Given the description of an element on the screen output the (x, y) to click on. 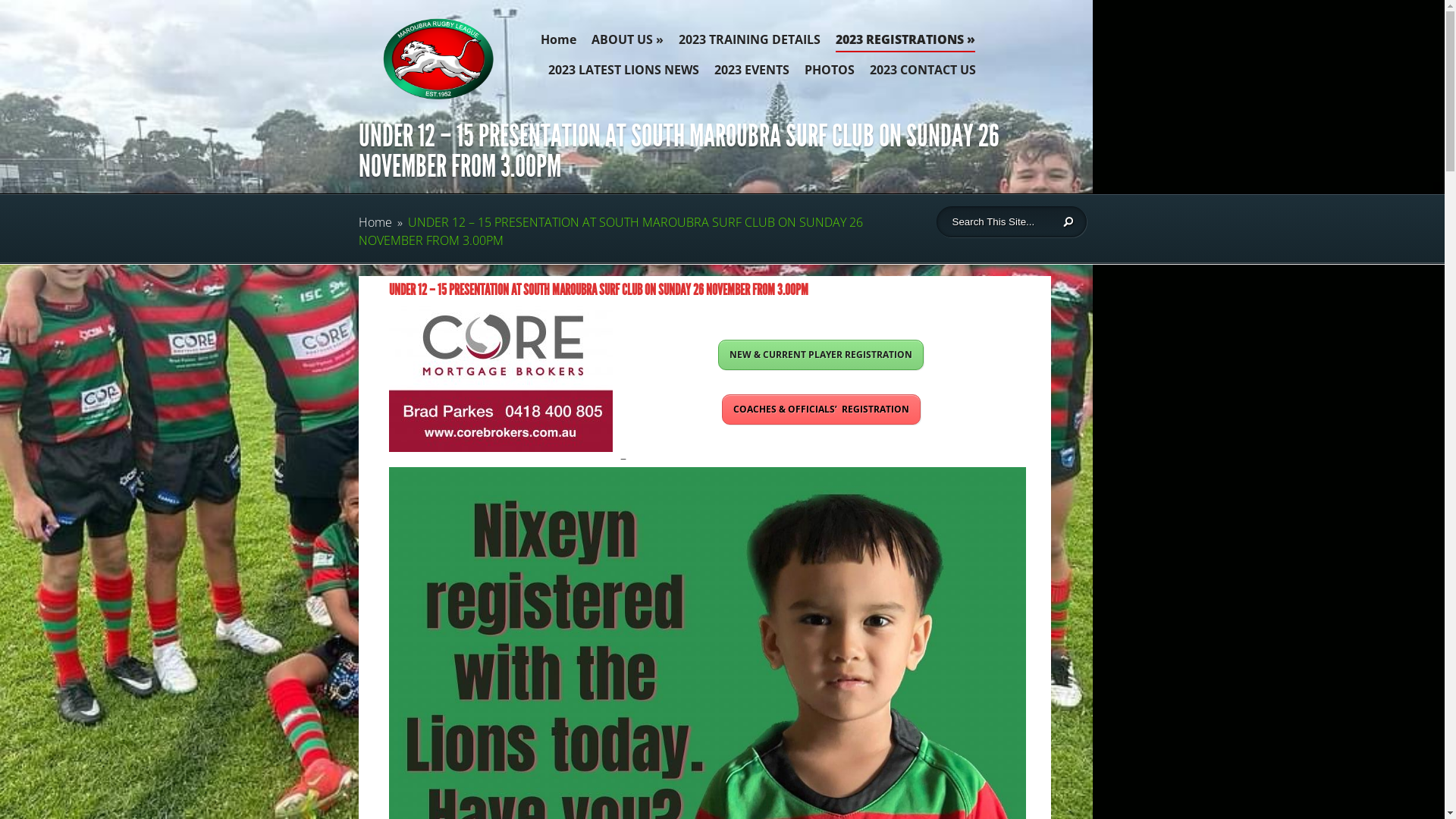
2023 TRAINING DETAILS Element type: text (748, 43)
PHOTOS Element type: text (828, 73)
NEW & CURRENT PLAYER REGISTRATION Element type: text (820, 354)
2023 LATEST LIONS NEWS Element type: text (622, 73)
2023 CONTACT US Element type: text (922, 73)
2023 EVENTS Element type: text (751, 73)
Home Element type: text (374, 221)
Home Element type: text (557, 43)
